Given the description of an element on the screen output the (x, y) to click on. 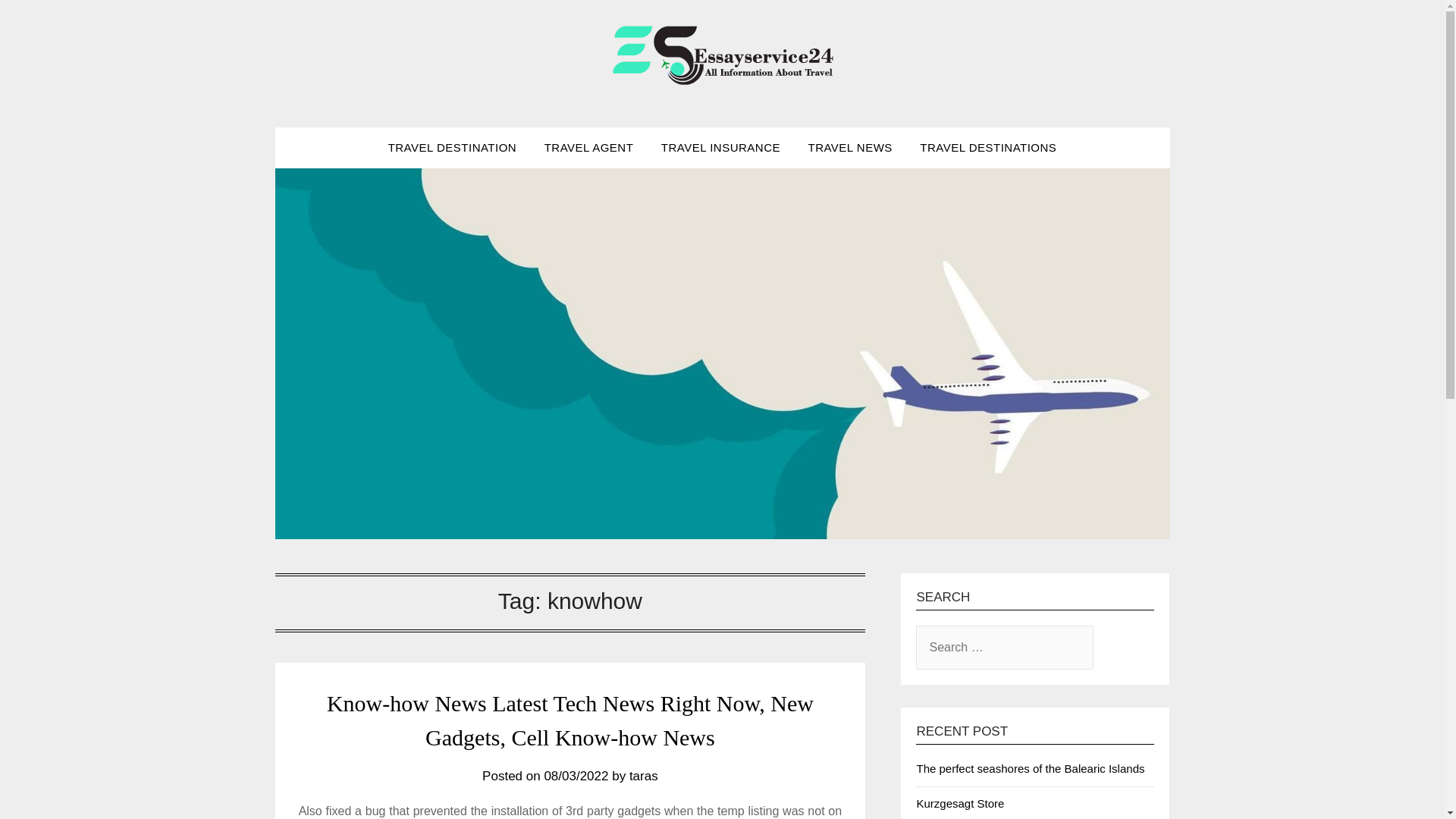
TRAVEL DESTINATIONS (987, 147)
taras (643, 775)
TRAVEL DESTINATION (452, 147)
Kurzgesagt Store (959, 802)
Search (38, 22)
TRAVEL AGENT (589, 147)
TRAVEL NEWS (849, 147)
The perfect seashores of the Balearic Islands (1029, 768)
TRAVEL INSURANCE (720, 147)
